Given the description of an element on the screen output the (x, y) to click on. 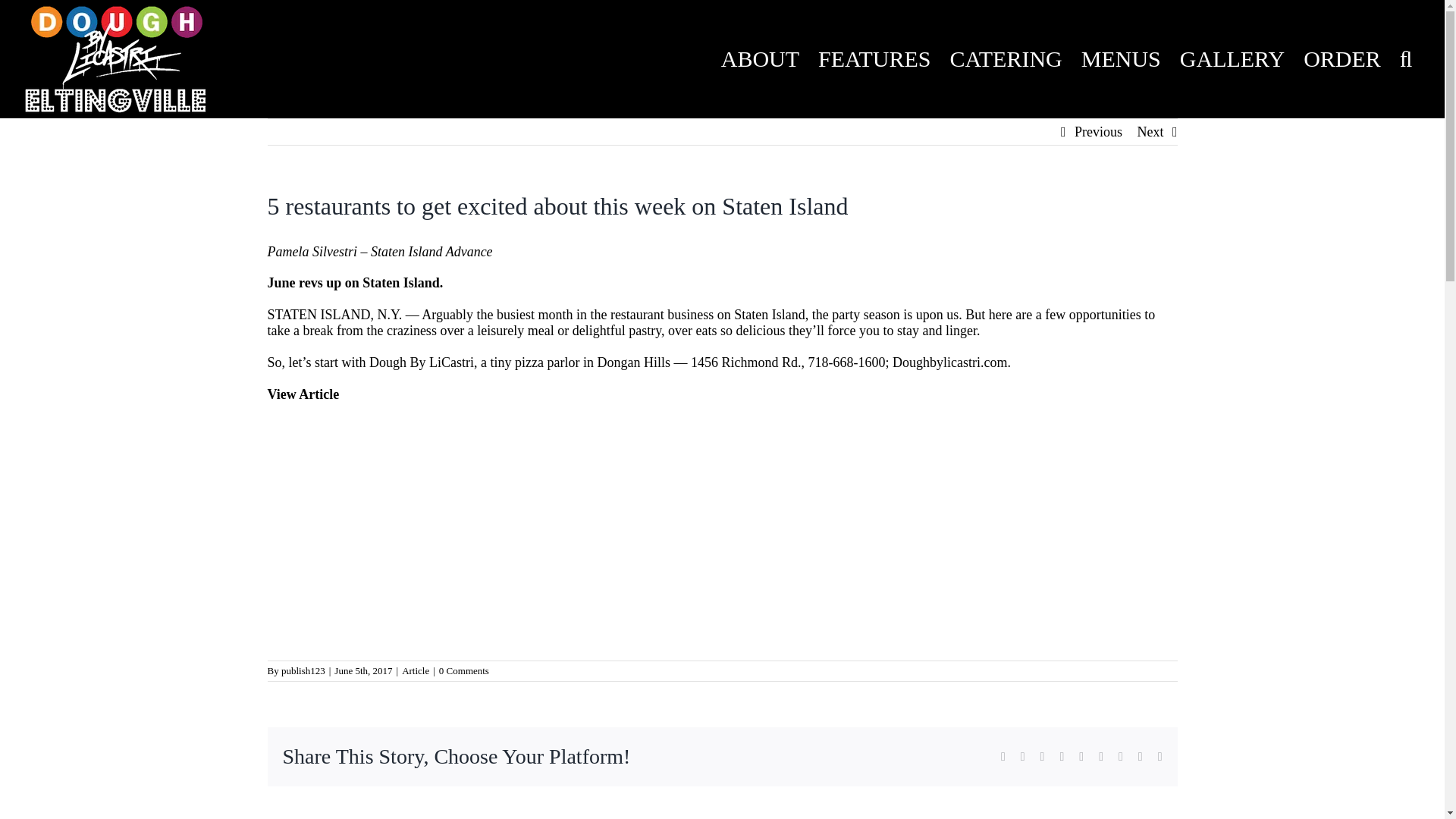
CATERING (1005, 58)
FEATURES (874, 58)
GALLERY (1232, 58)
Doughbylicastri.com (949, 362)
Posts by publish123 (302, 670)
Next (1150, 131)
0 Comments (464, 670)
View Article (302, 394)
Previous (1098, 131)
Article (415, 670)
publish123 (302, 670)
